Given the description of an element on the screen output the (x, y) to click on. 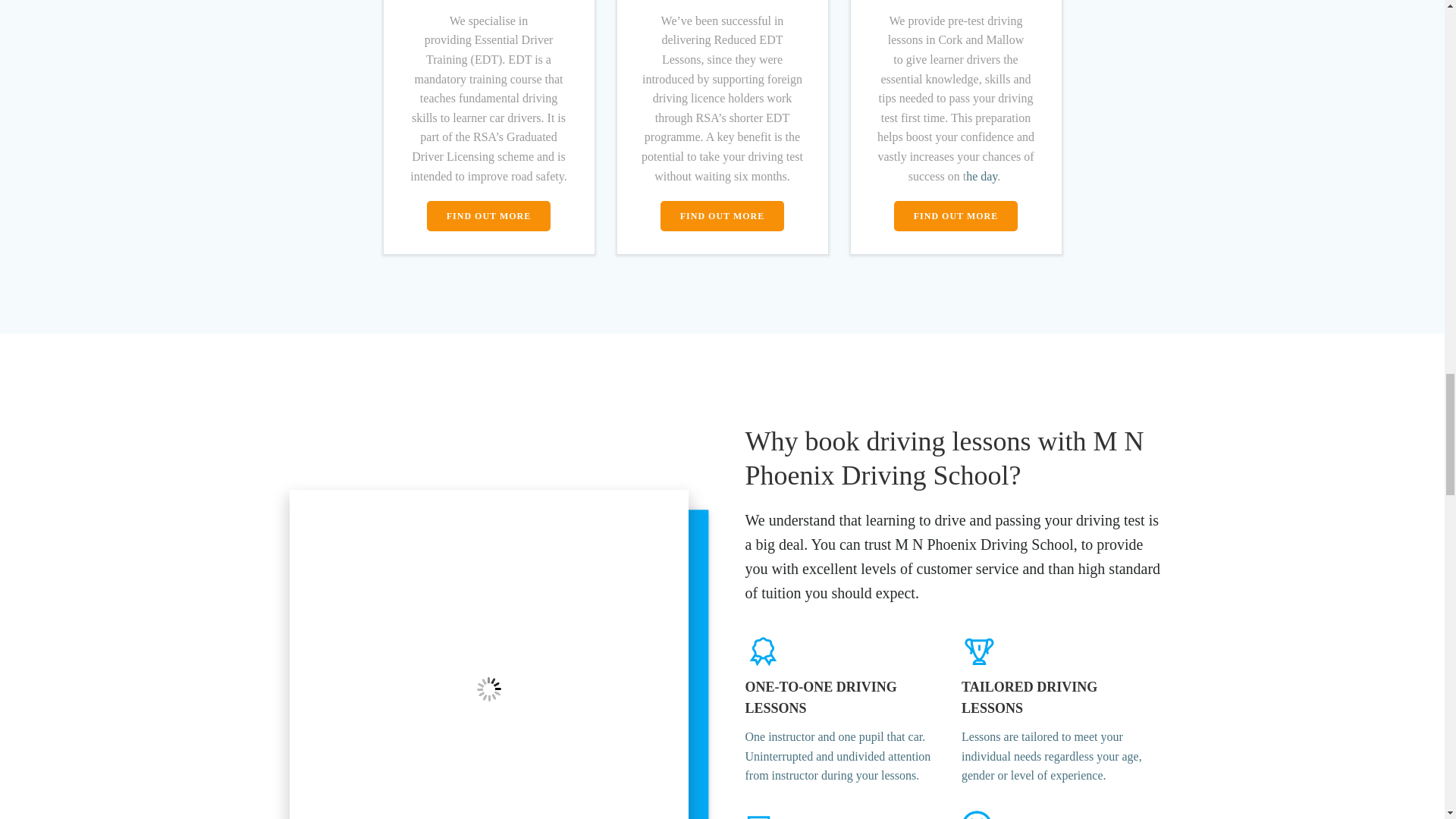
FIND OUT MORE (955, 215)
FIND OUT MORE (488, 215)
FIND OUT MORE (722, 215)
